Given the description of an element on the screen output the (x, y) to click on. 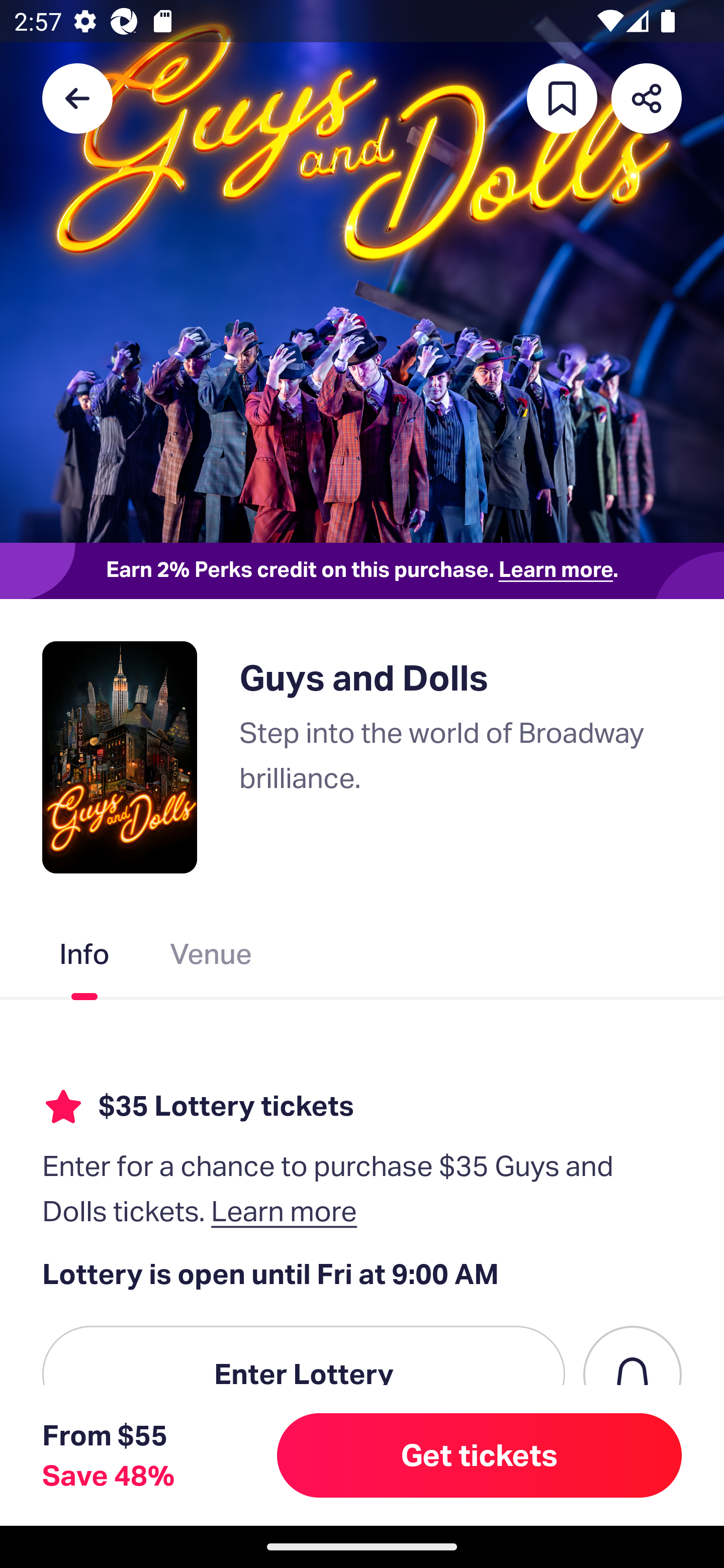
Earn 2% Perks credit on this purchase. Learn more. (362, 570)
Venue (210, 957)
Enter Lottery (303, 1374)
Get tickets (479, 1454)
